Given the description of an element on the screen output the (x, y) to click on. 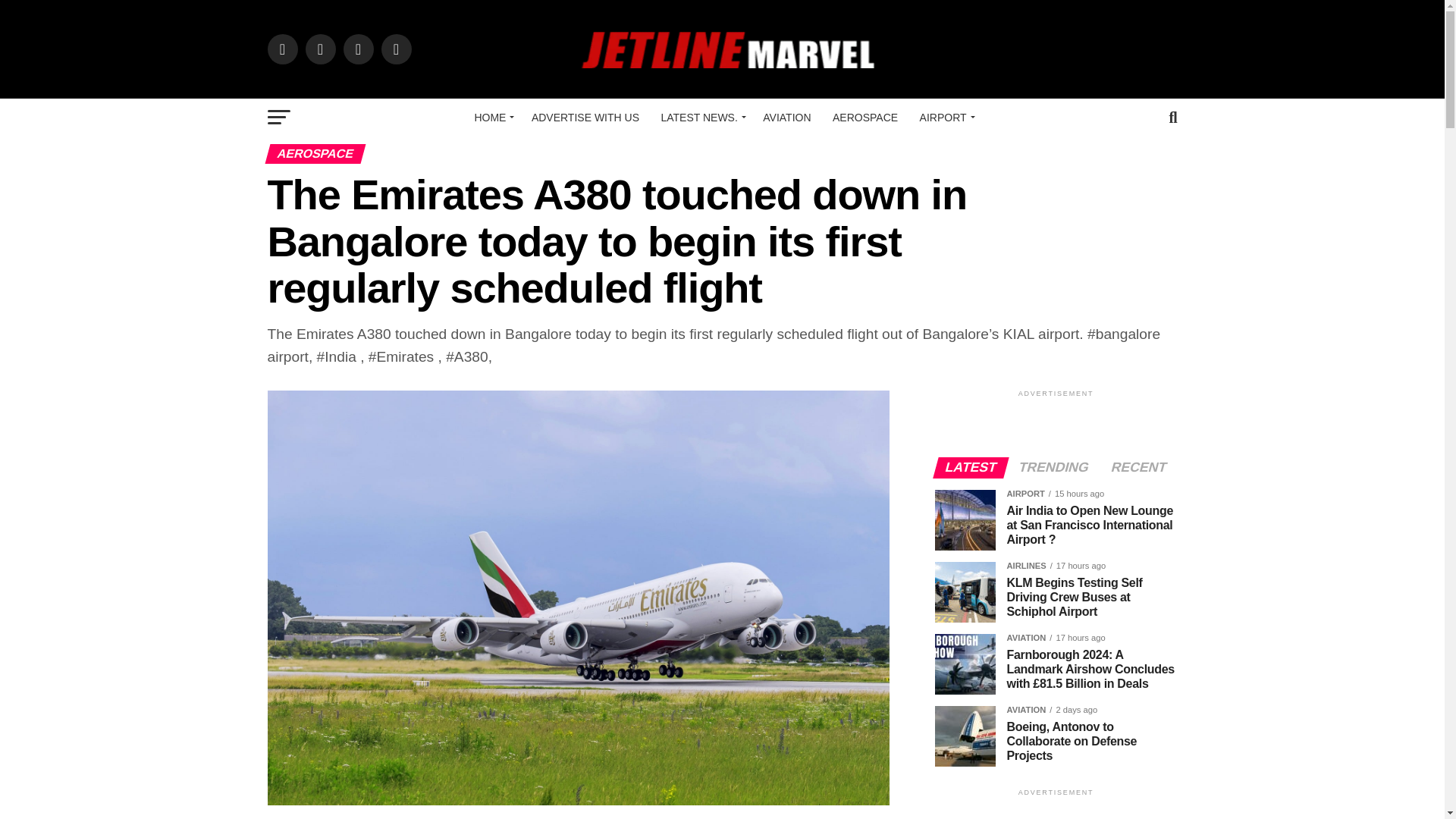
LATEST NEWS. (699, 117)
HOME (491, 117)
Home (491, 117)
AIRPORT (945, 117)
ADVERTISE WITH US (584, 117)
AVIATION (786, 117)
AEROSPACE (865, 117)
